Given the description of an element on the screen output the (x, y) to click on. 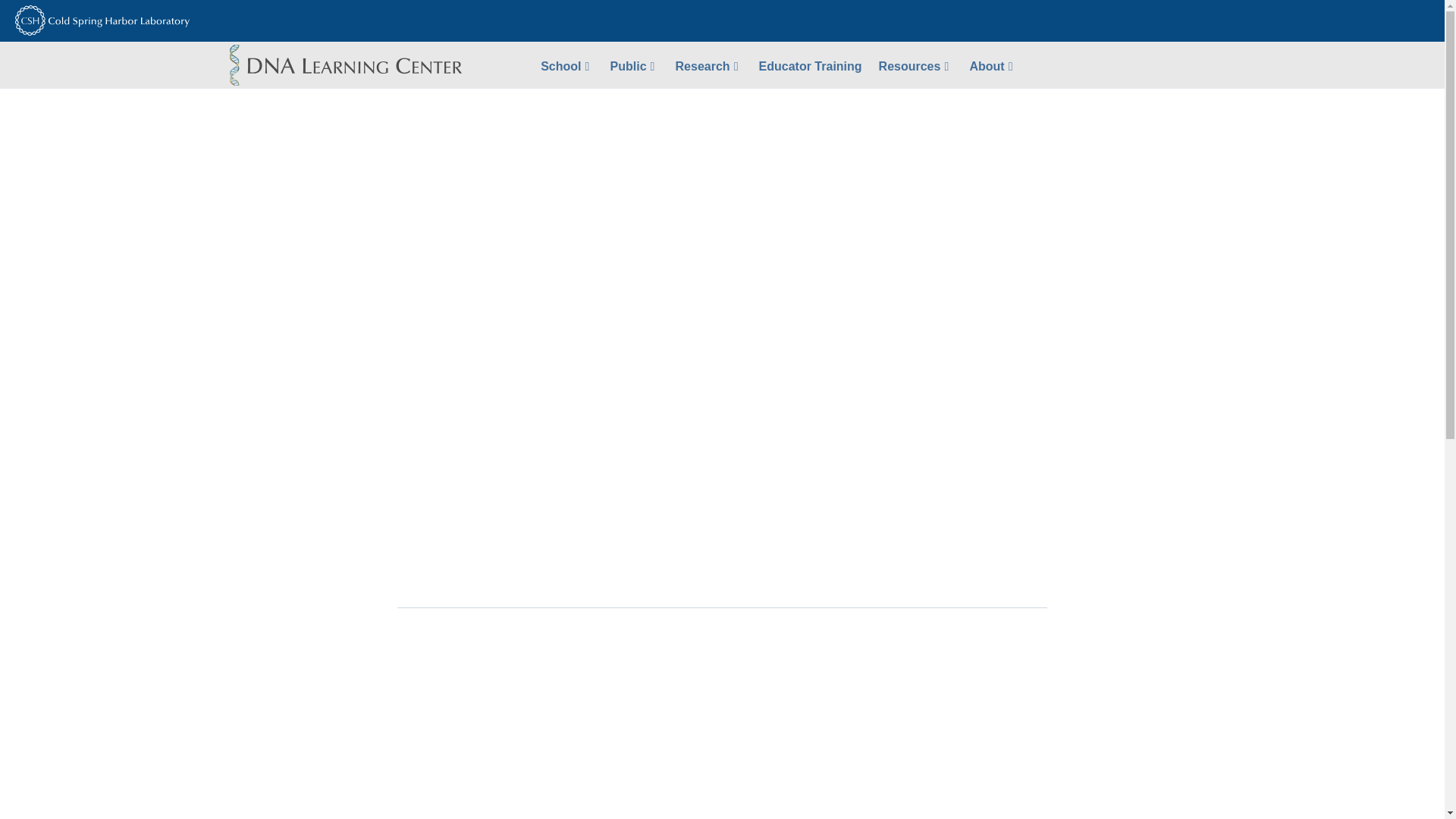
School (566, 65)
About (992, 65)
Educator Training (810, 65)
DNALC LIVE (721, 126)
Public (634, 65)
Research (708, 65)
Resources (915, 65)
